Given the description of an element on the screen output the (x, y) to click on. 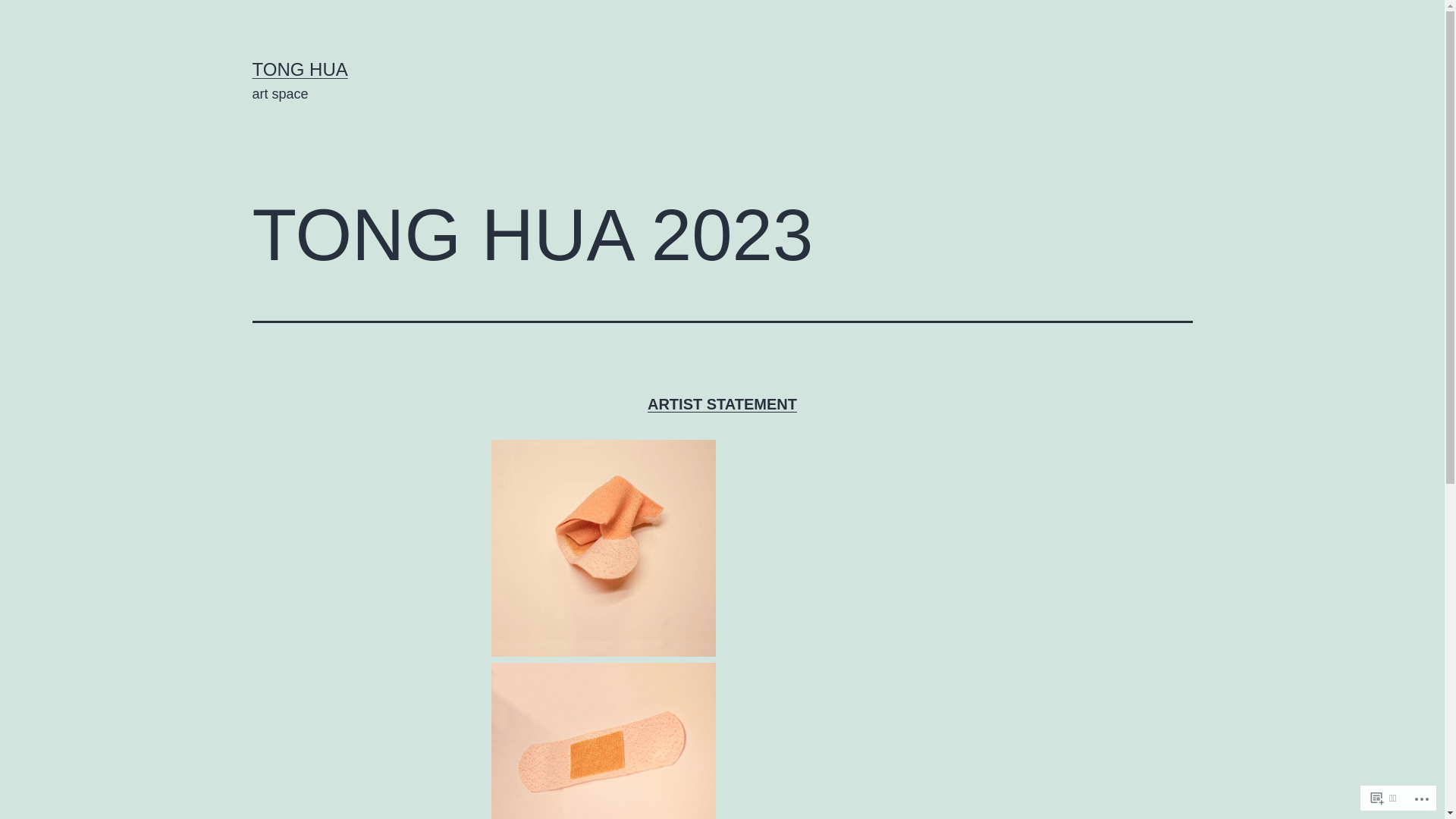
TONG HUA Element type: text (299, 69)
ARTIST STATEMENT Element type: text (722, 403)
